Given the description of an element on the screen output the (x, y) to click on. 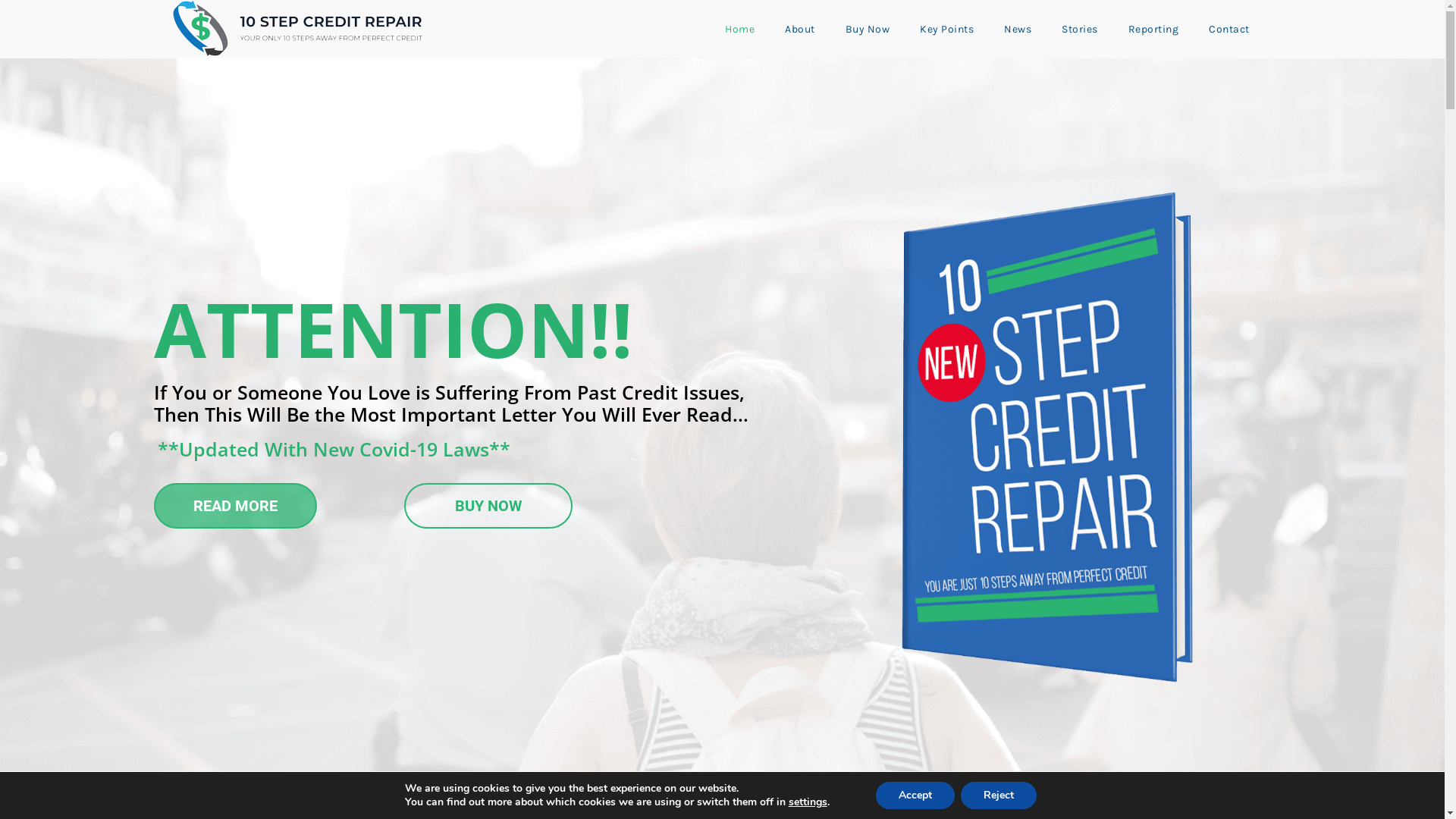
settings Element type: text (807, 802)
Contact Element type: text (1229, 29)
Accept Element type: text (914, 795)
About Element type: text (799, 29)
Home Element type: text (739, 29)
Stories Element type: text (1079, 29)
Buy Now Element type: text (867, 29)
News Element type: text (1017, 29)
Reporting Element type: text (1152, 29)
Reject Element type: text (998, 795)
Key Points Element type: text (946, 29)
